Given the description of an element on the screen output the (x, y) to click on. 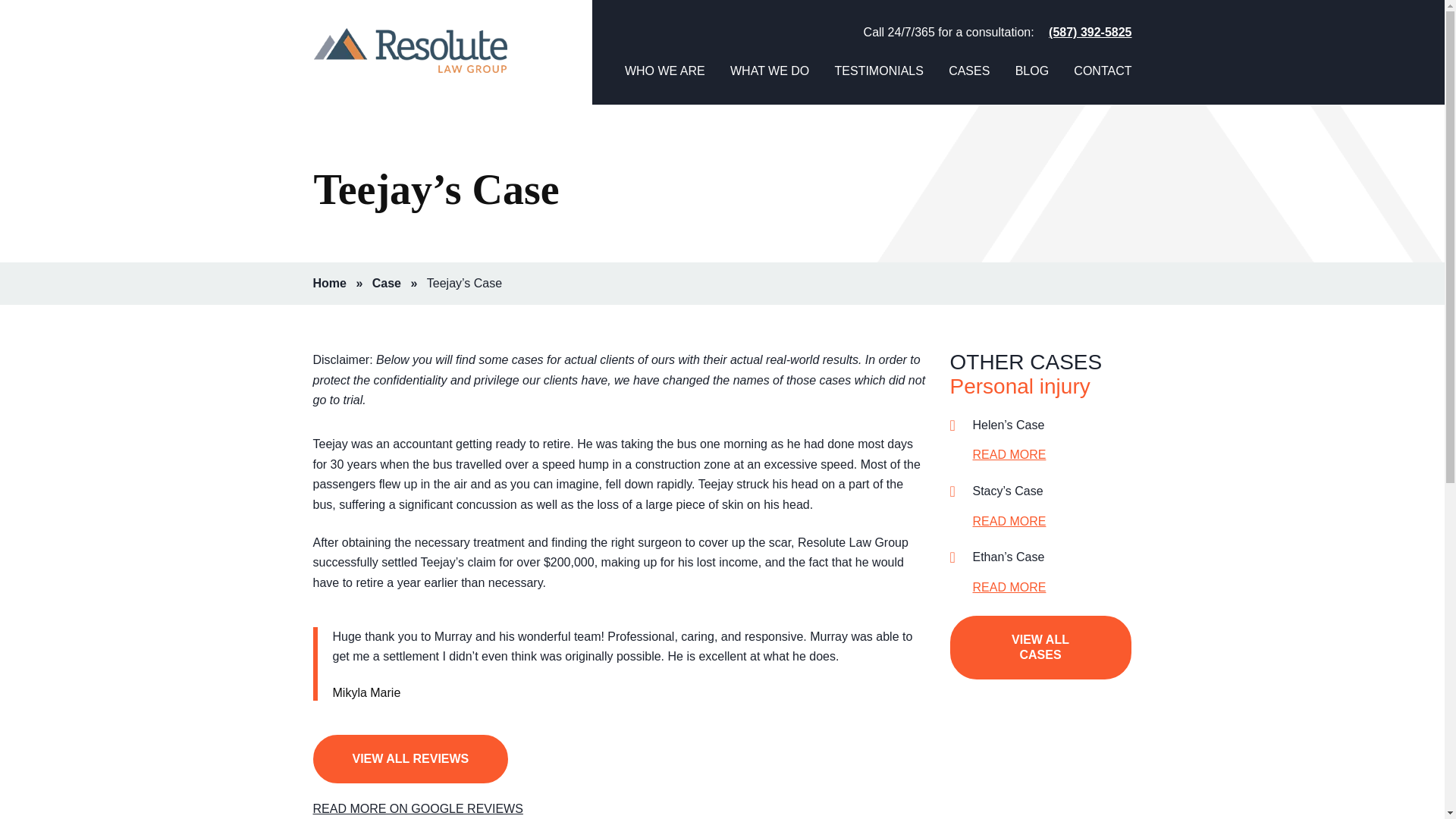
CONTACT (1102, 84)
WHAT WE DO (769, 84)
WHO WE ARE (664, 84)
TESTIMONIALS (878, 84)
CASES (969, 84)
